Given the description of an element on the screen output the (x, y) to click on. 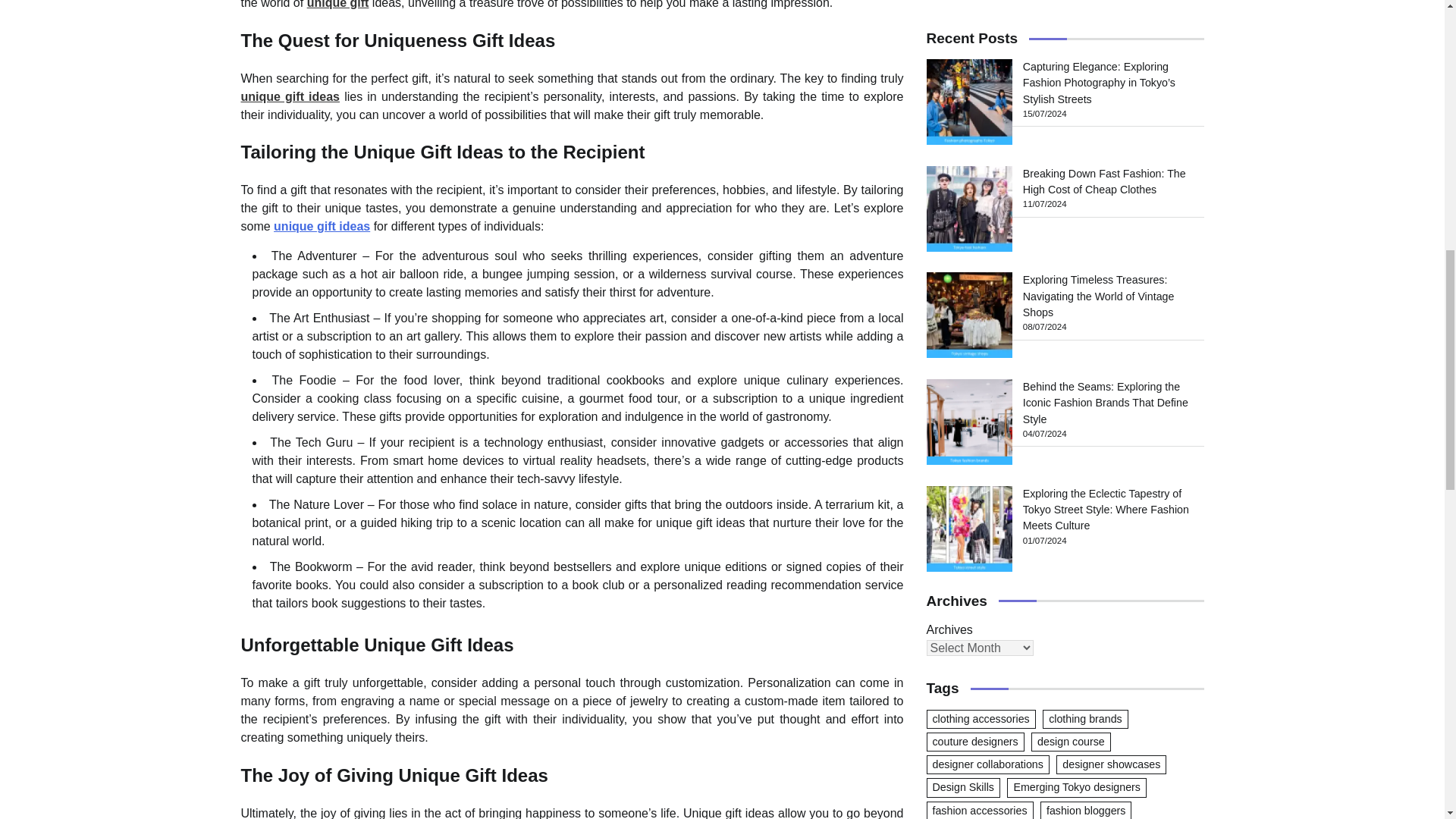
couture designers (975, 135)
clothing accessories (980, 112)
Design Skills (963, 180)
unique gift (338, 4)
designer collaborations (987, 157)
unique gift ideas (290, 96)
clothing brands (1085, 112)
designer showcases (1111, 157)
unique gift ideas (321, 226)
design course (1070, 135)
